Given the description of an element on the screen output the (x, y) to click on. 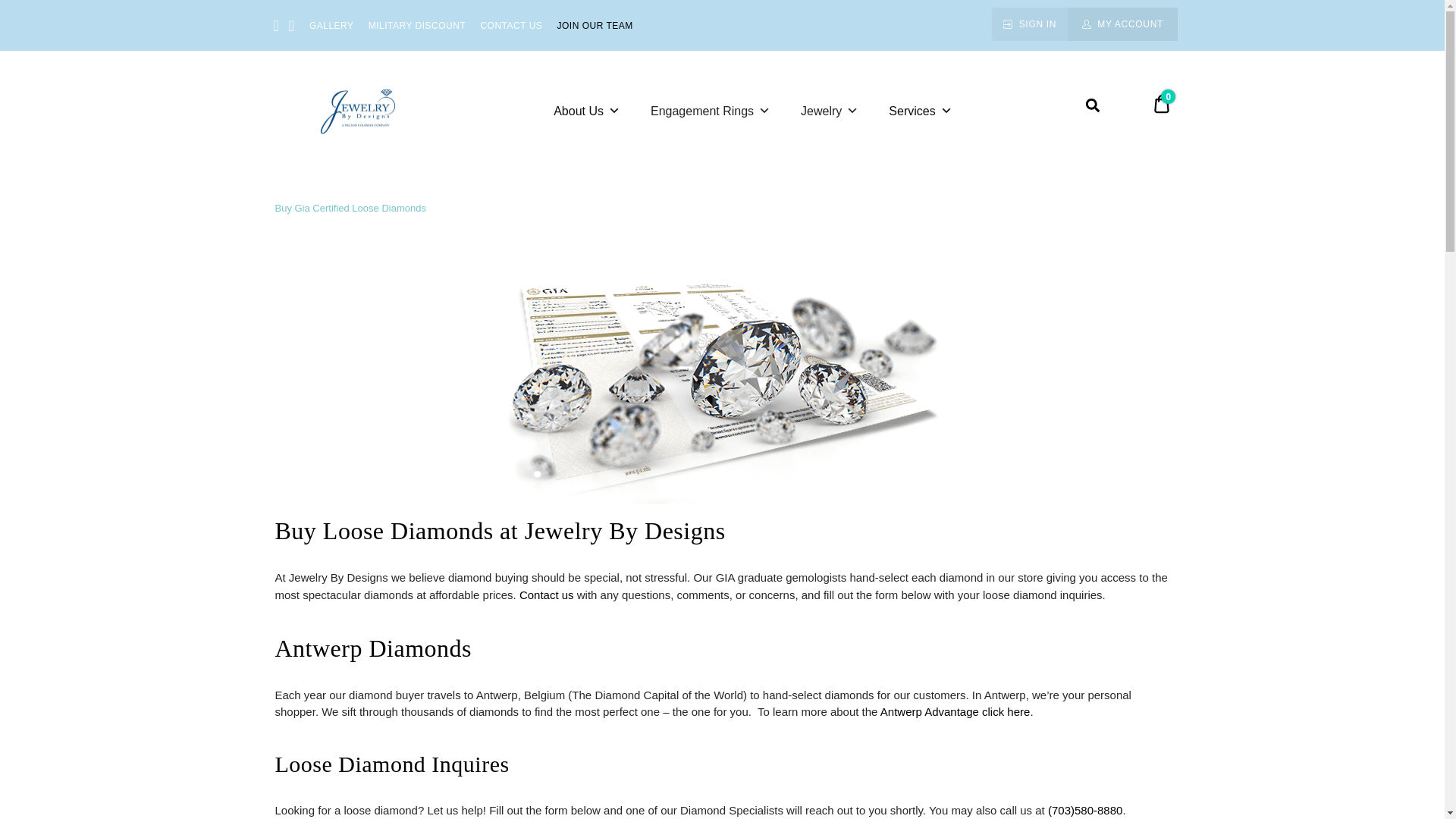
SIGN IN (1029, 23)
About Us (586, 110)
MILITARY DISCOUNT (416, 24)
GALLERY (330, 24)
CONTACT US (510, 24)
Jewelry (829, 110)
MY ACCOUNT (1121, 23)
View your shopping cart (1161, 106)
Engagement Rings (710, 110)
JOIN OUR TEAM (593, 24)
